Given the description of an element on the screen output the (x, y) to click on. 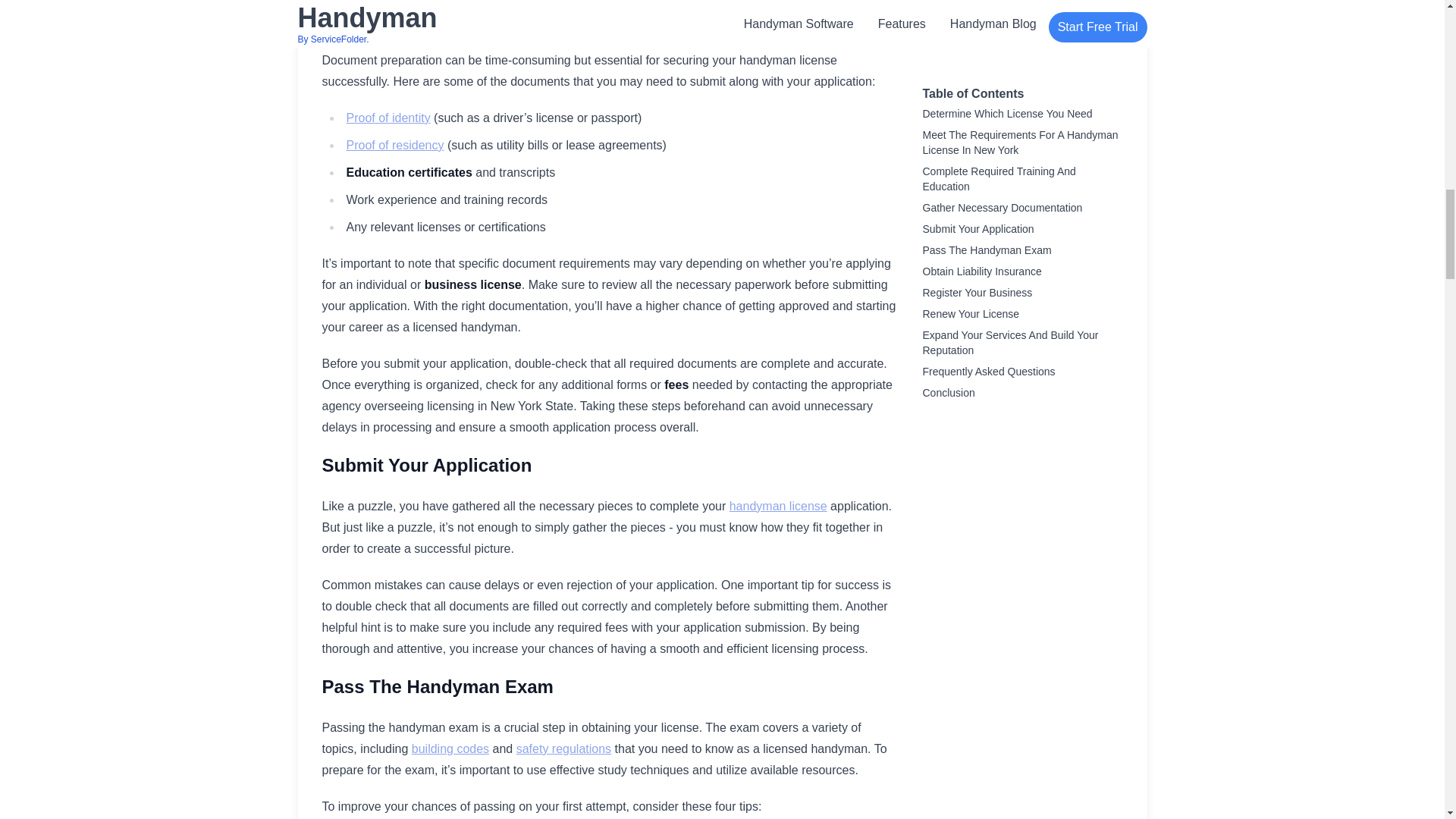
safety regulations (563, 748)
Proof of residency (395, 144)
building codes (450, 748)
handyman license (778, 505)
Proof of identity (387, 117)
